Given the description of an element on the screen output the (x, y) to click on. 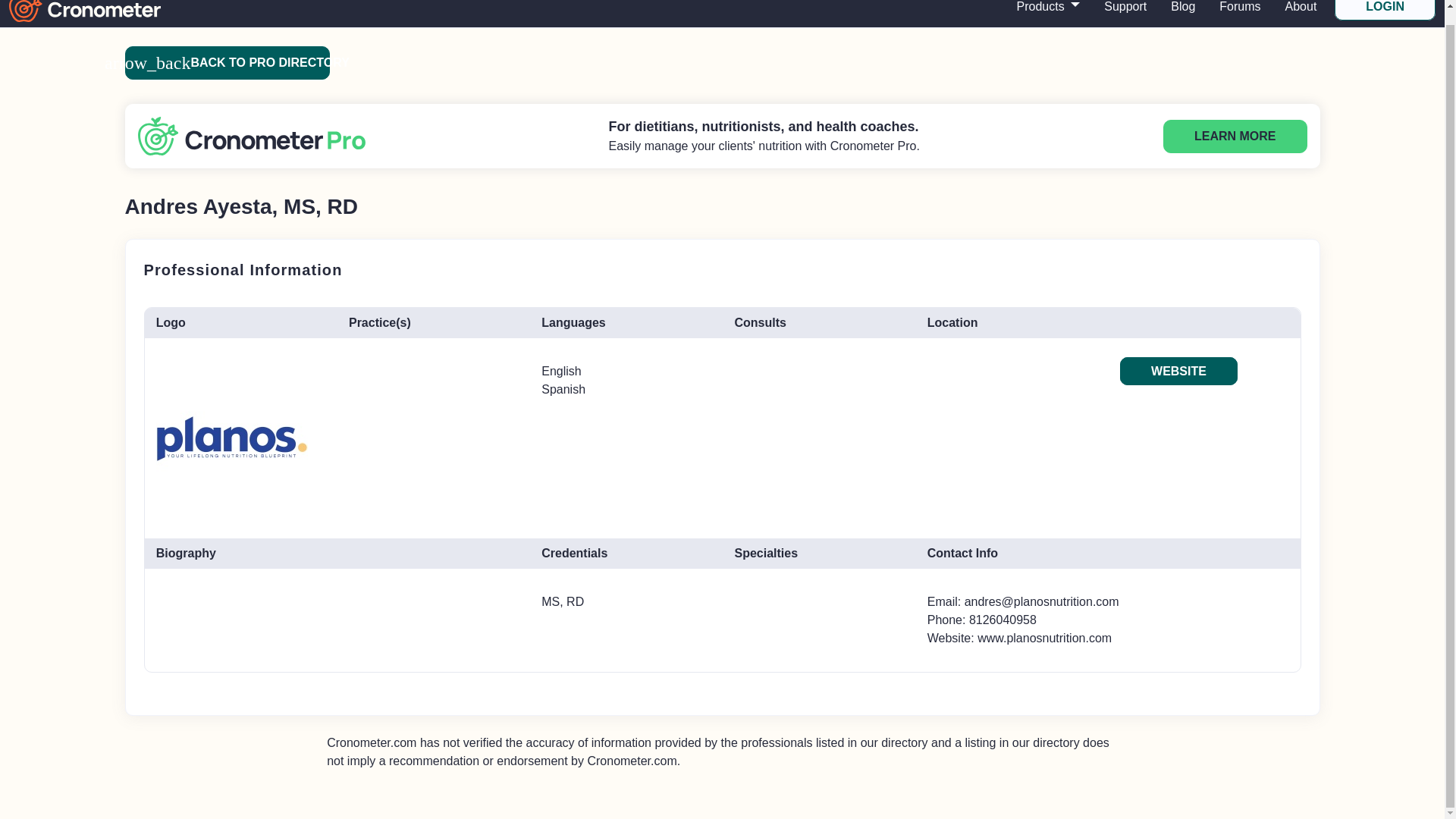
Forums (1239, 11)
LOGIN (1385, 9)
Blog (1182, 11)
Products (1048, 11)
Opens a widget where you can find more information (69, 777)
WEBSITE (1178, 370)
LEARN MORE (1235, 136)
About (1301, 11)
Cronometer (84, 6)
Support (1125, 11)
